Given the description of an element on the screen output the (x, y) to click on. 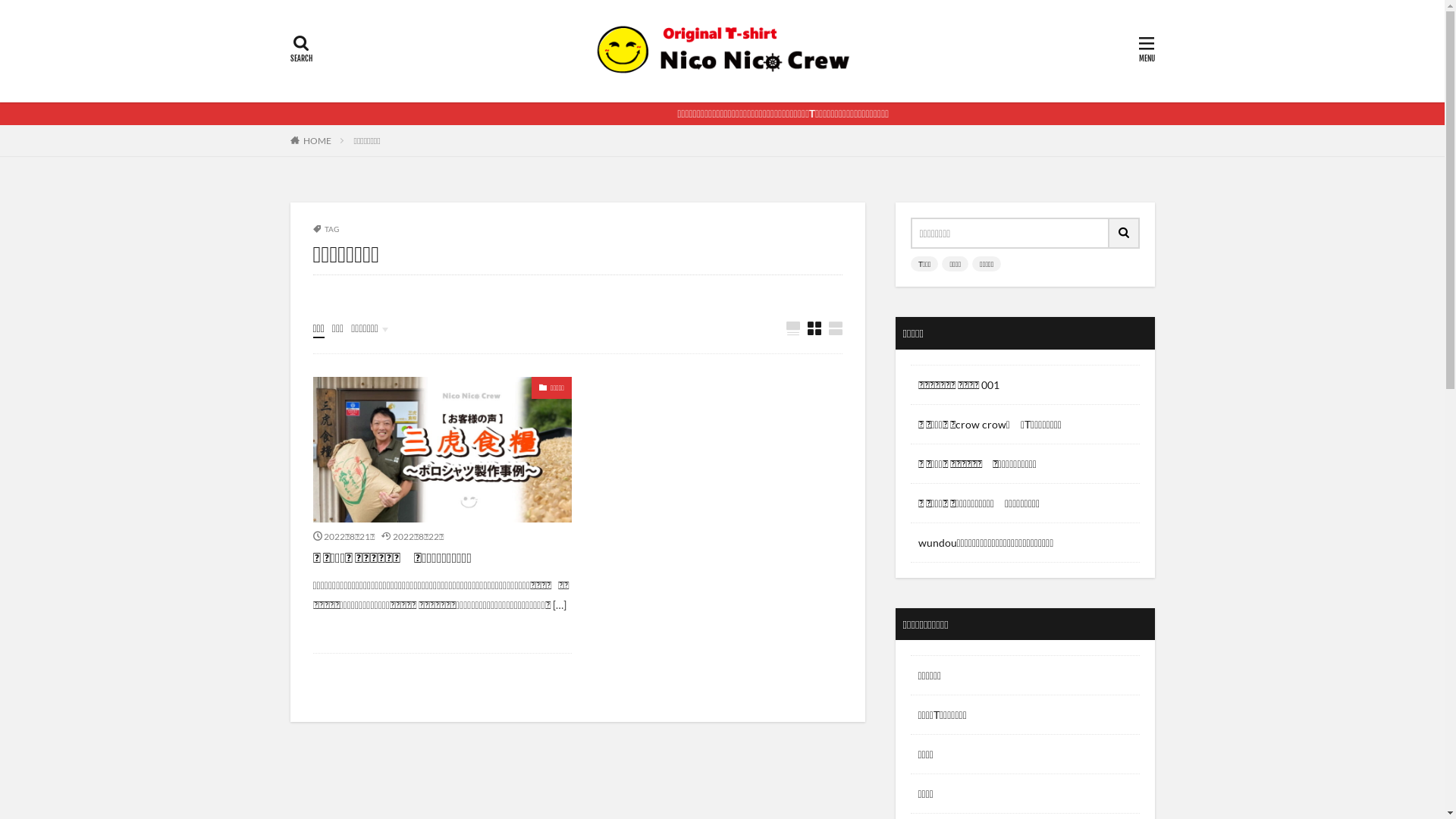
HOME Element type: text (317, 140)
search Element type: text (1123, 232)
